Given the description of an element on the screen output the (x, y) to click on. 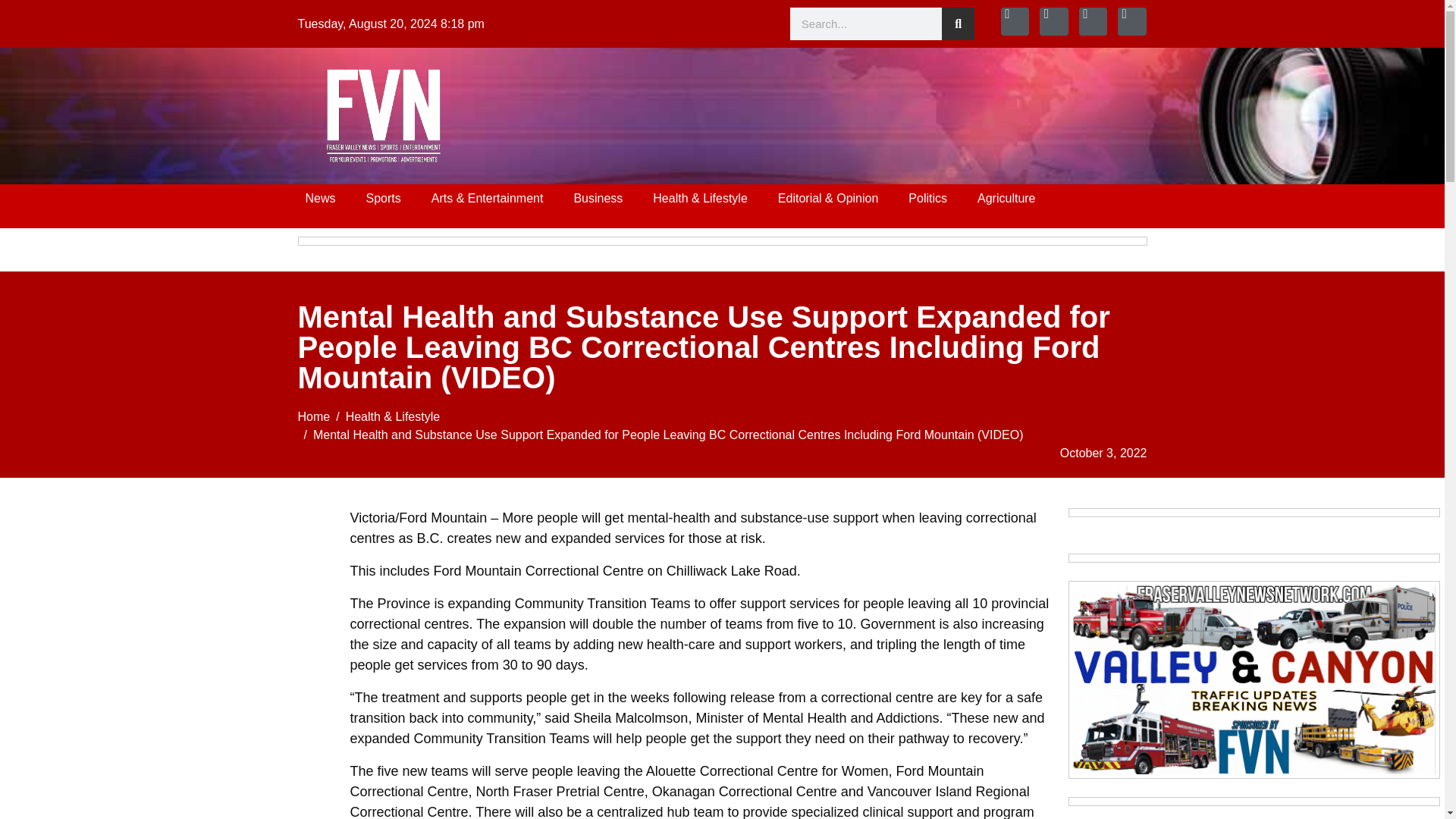
October 3, 2022 (1103, 453)
Home (313, 416)
Agriculture (1005, 198)
News (319, 198)
Advertisement (160, 613)
Sports (383, 198)
Advertisement (160, 777)
Advertisement (776, 112)
Politics (927, 198)
Business (597, 198)
